Given the description of an element on the screen output the (x, y) to click on. 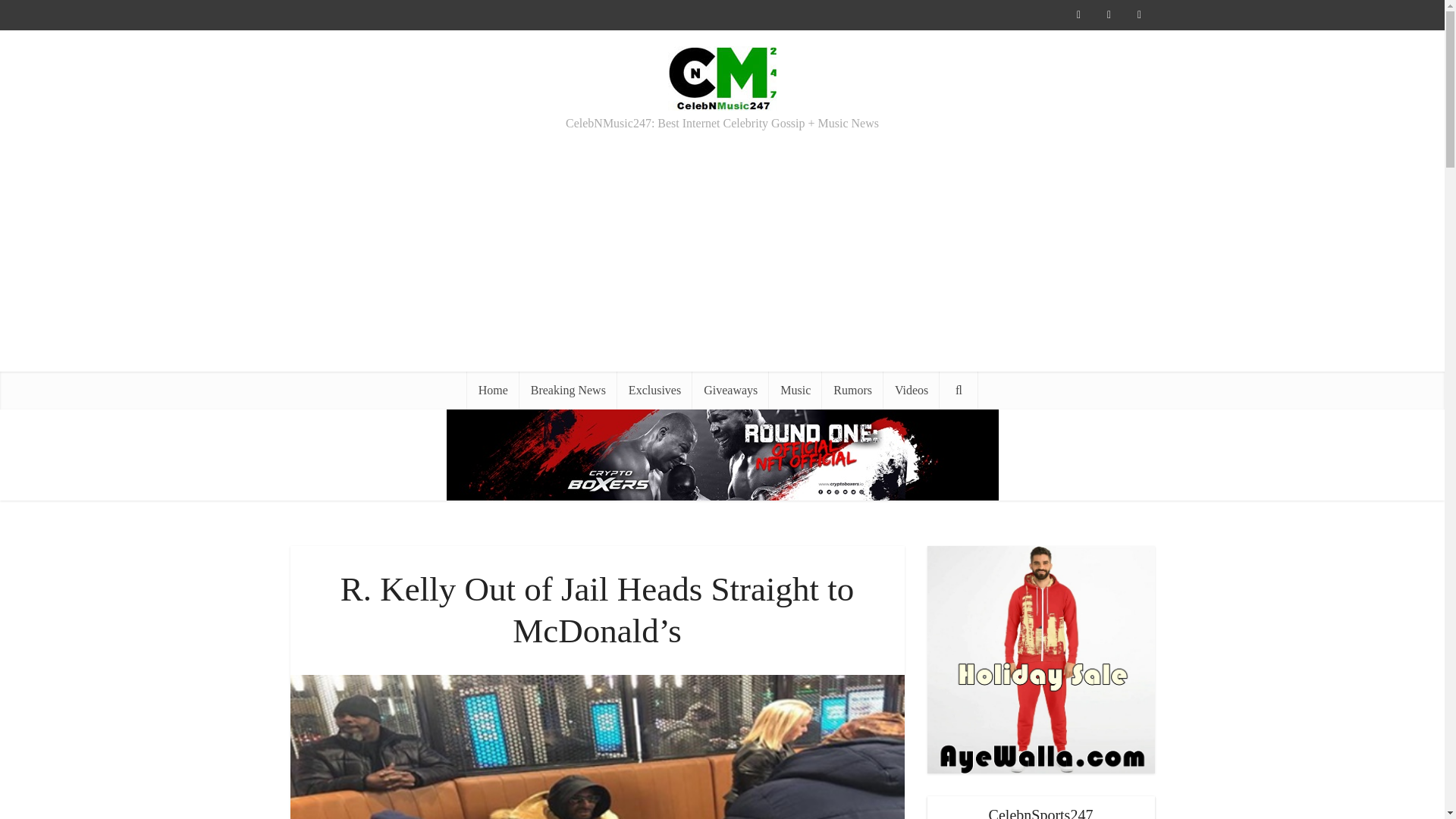
Celebnmusic247 (722, 75)
Exclusives (655, 390)
Home (493, 390)
Giveaways (730, 390)
Music (795, 390)
Rumors (852, 390)
Breaking News (568, 390)
Videos (911, 390)
